Given the description of an element on the screen output the (x, y) to click on. 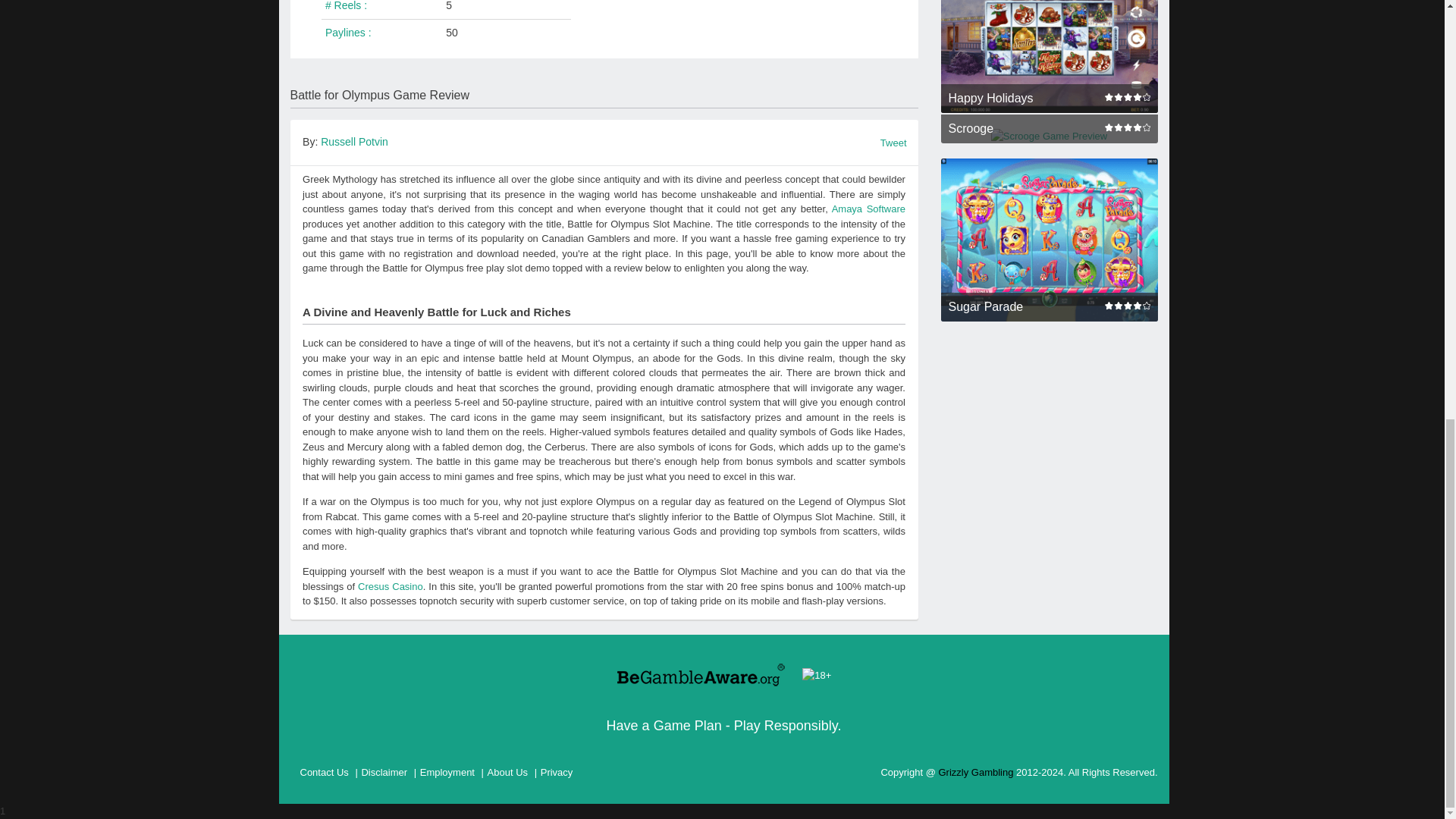
Scrooge Game Preview (1048, 136)
Sugar Parade Game Preview (1048, 239)
Happy Holidays Game Preview (1048, 56)
